Given the description of an element on the screen output the (x, y) to click on. 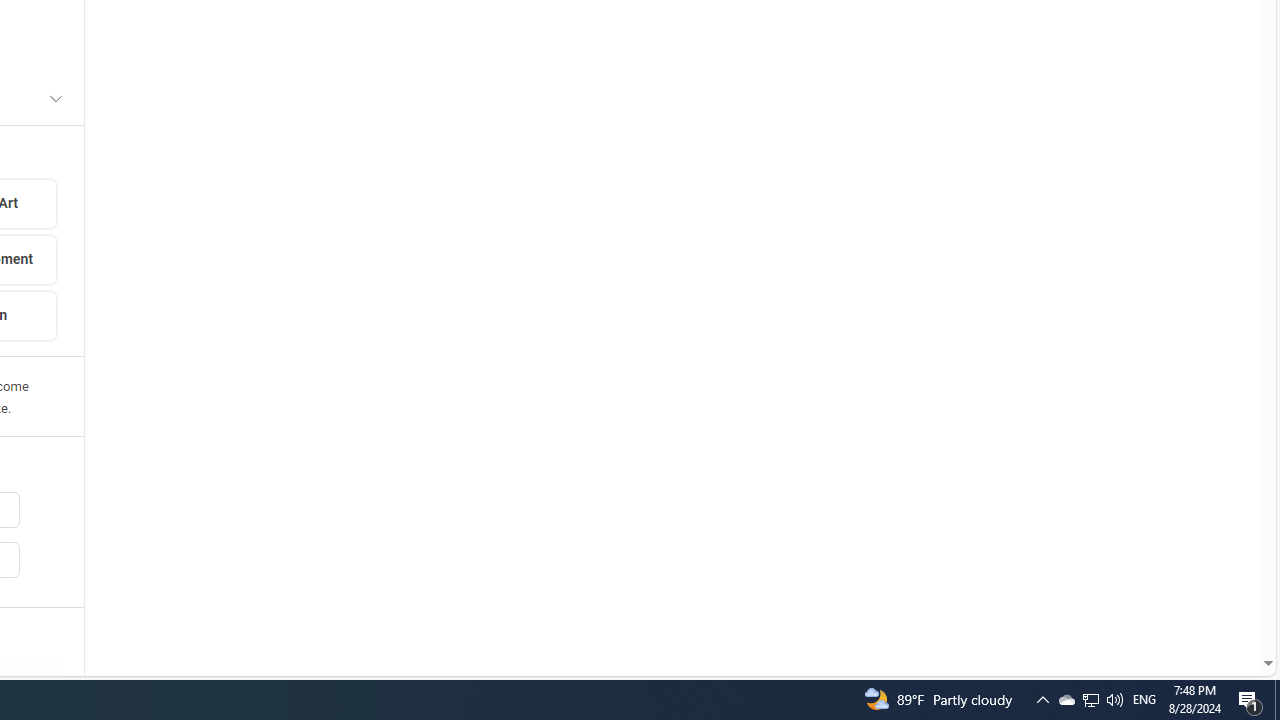
AutomationID: mfa_root (1192, 603)
Search more (1222, 604)
